Given the description of an element on the screen output the (x, y) to click on. 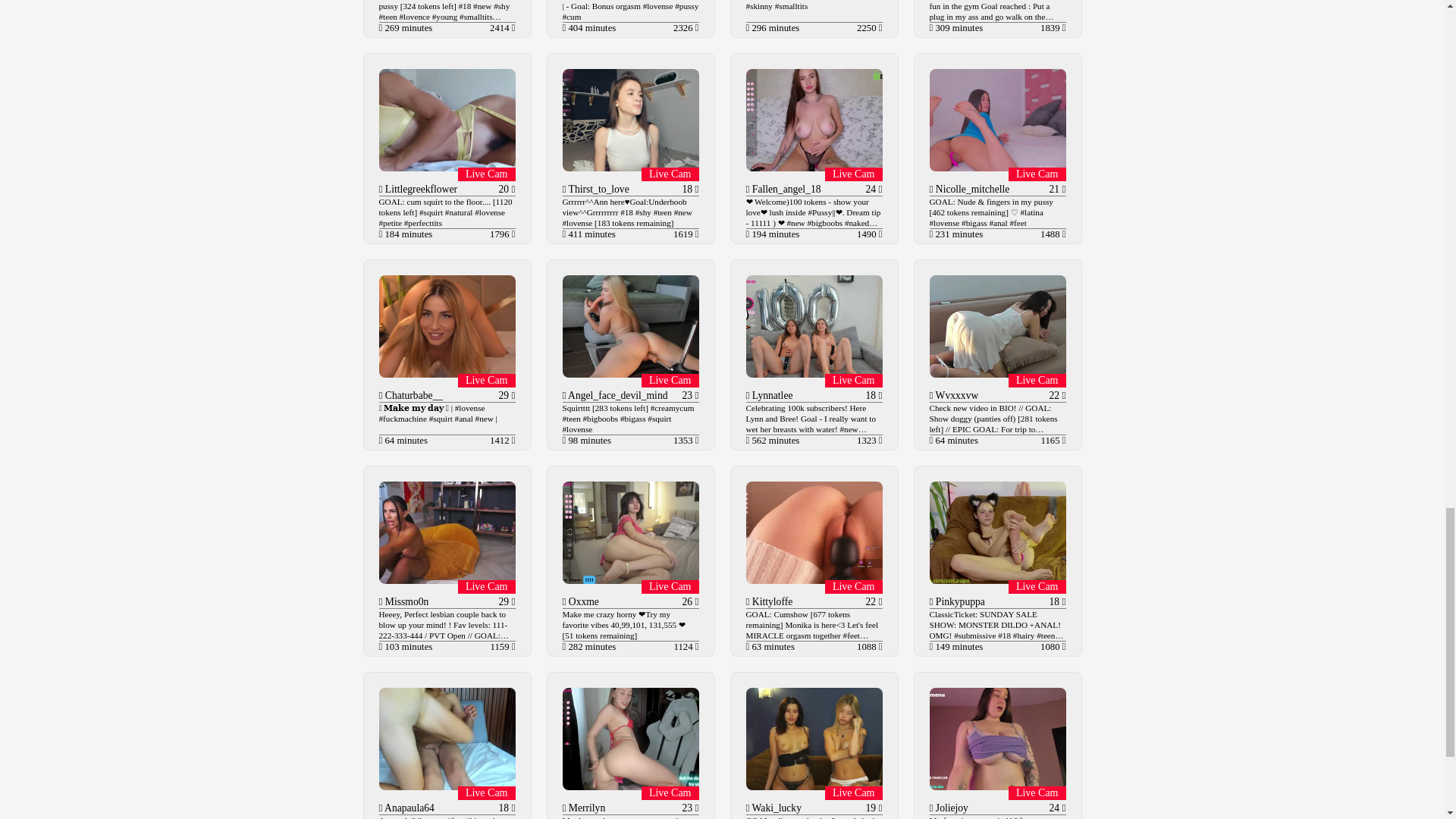
Littlegreekflower (419, 188)
